Given the description of an element on the screen output the (x, y) to click on. 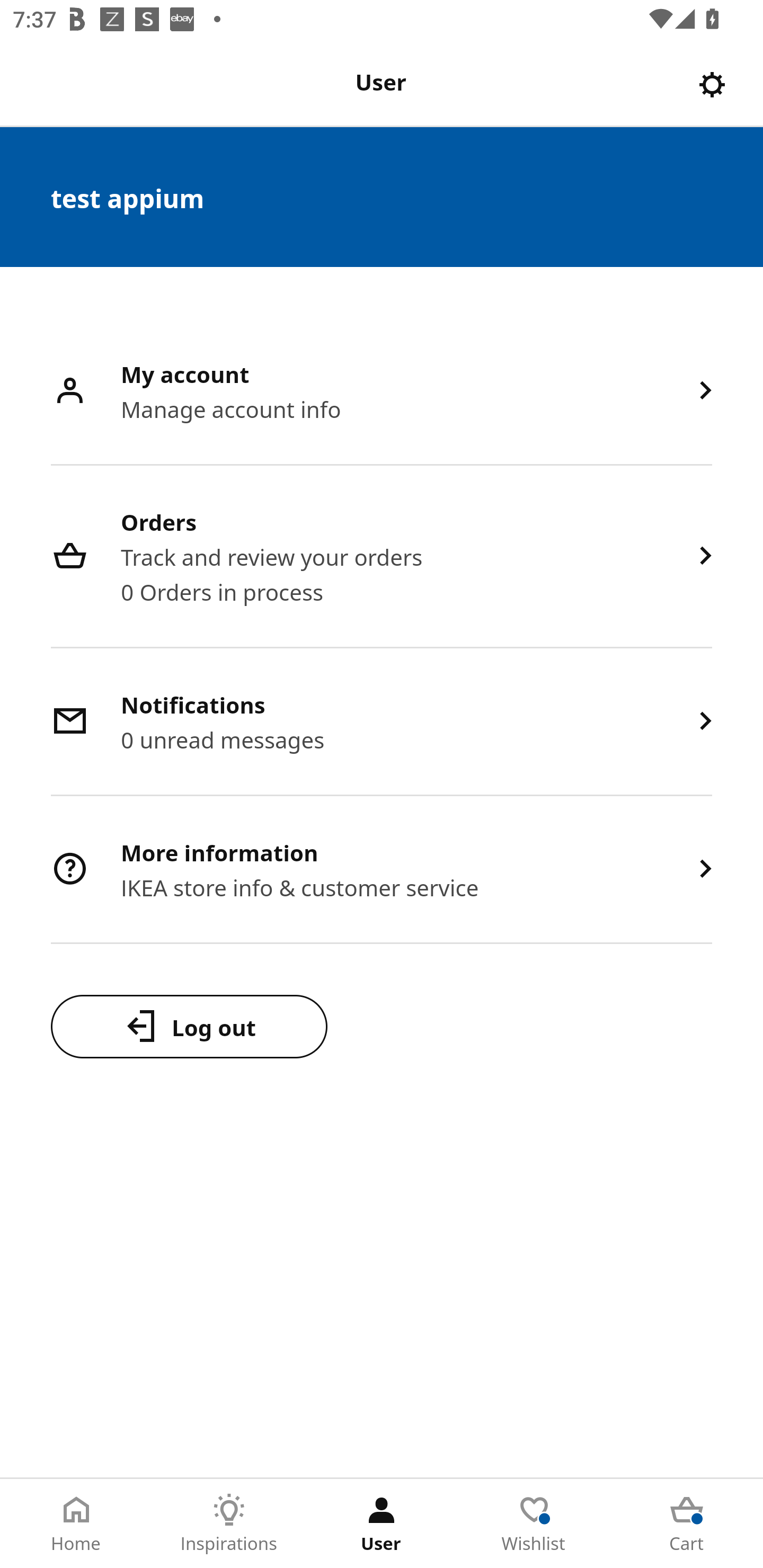
My account
Manage account info (381, 391)
Notifications
0 unread messages (381, 722)
Log out (189, 1026)
Home
Tab 1 of 5 (76, 1522)
Inspirations
Tab 2 of 5 (228, 1522)
User
Tab 3 of 5 (381, 1522)
Wishlist
Tab 4 of 5 (533, 1522)
Cart
Tab 5 of 5 (686, 1522)
